Given the description of an element on the screen output the (x, y) to click on. 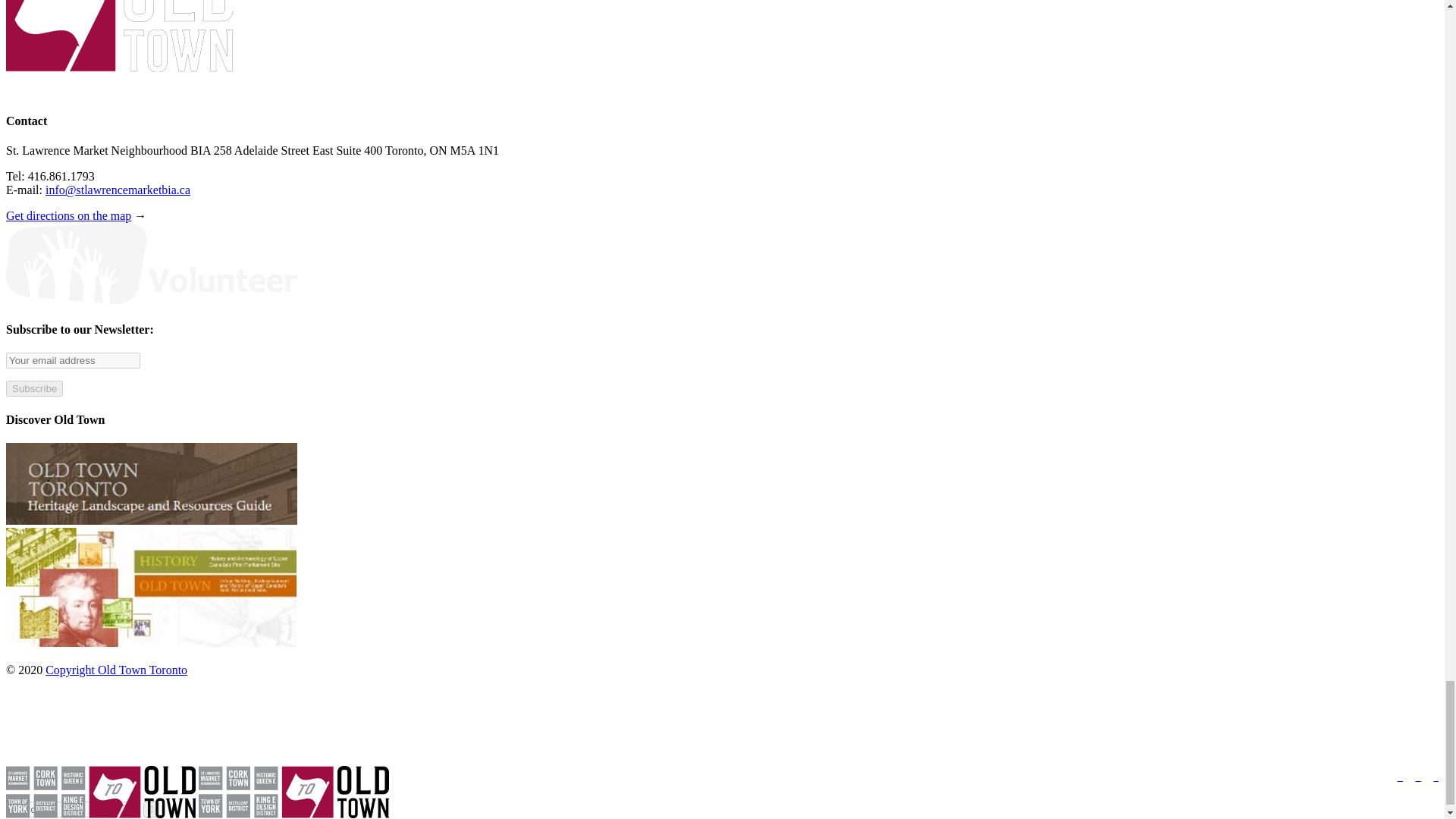
Subscribe (33, 388)
